Given the description of an element on the screen output the (x, y) to click on. 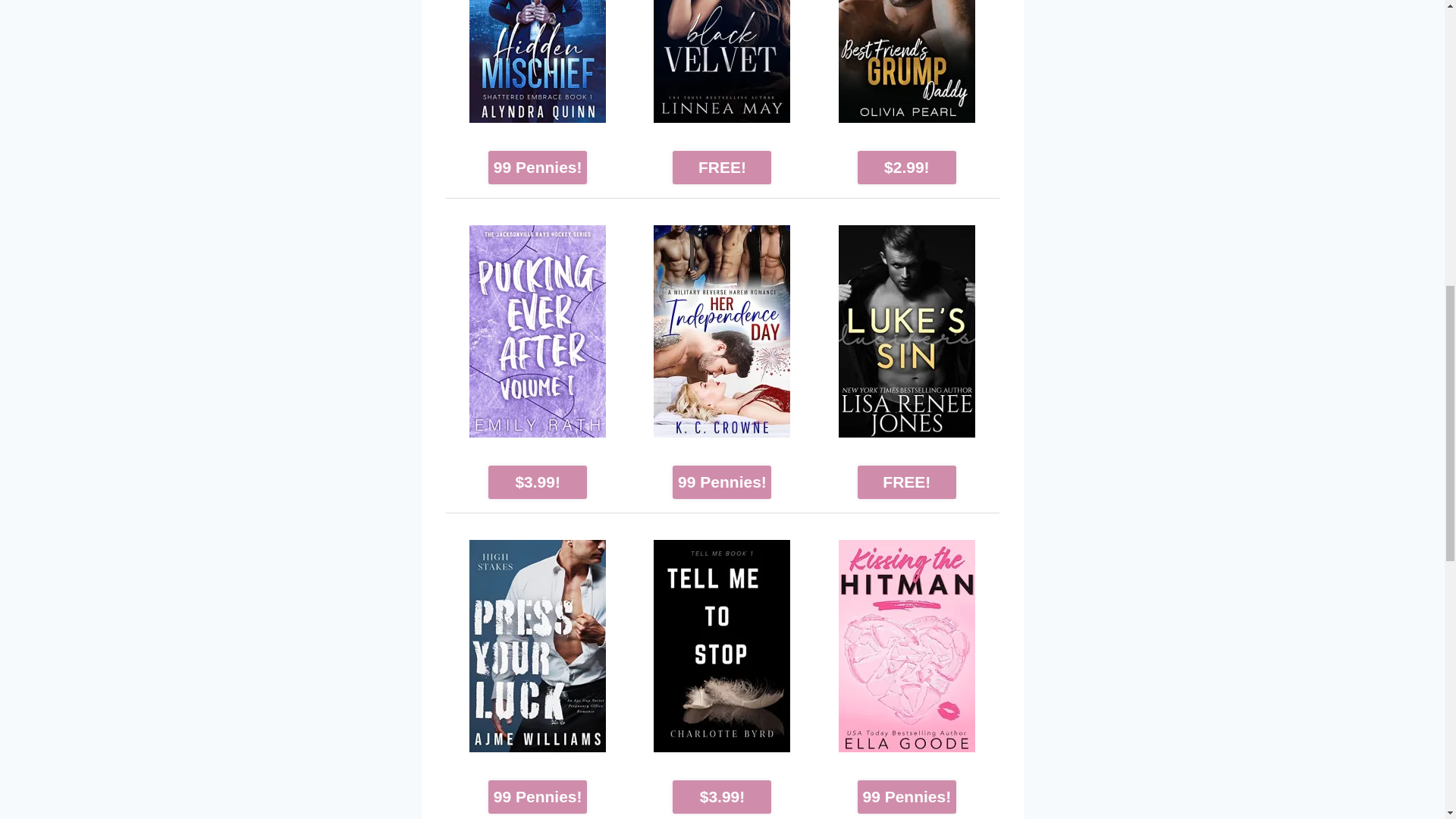
FREE! (721, 167)
99 Pennies! (536, 797)
99 Pennies! (721, 482)
99 Pennies! (906, 797)
FREE! (906, 482)
99 Pennies! (536, 167)
